Given the description of an element on the screen output the (x, y) to click on. 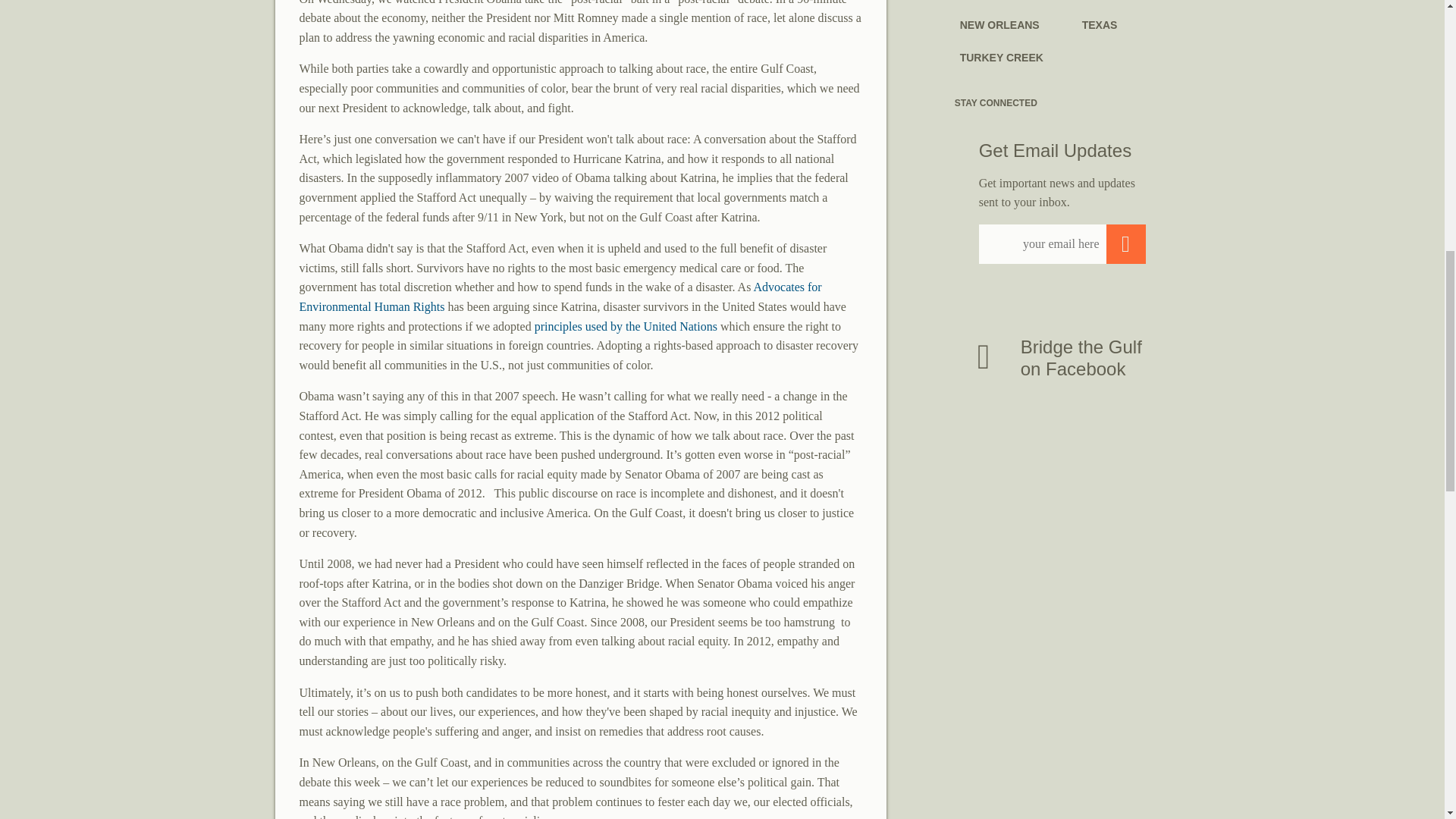
Advocates for Environmental Human Rights (559, 296)
your email here (1061, 243)
principles used by the United Nations (625, 326)
